Given the description of an element on the screen output the (x, y) to click on. 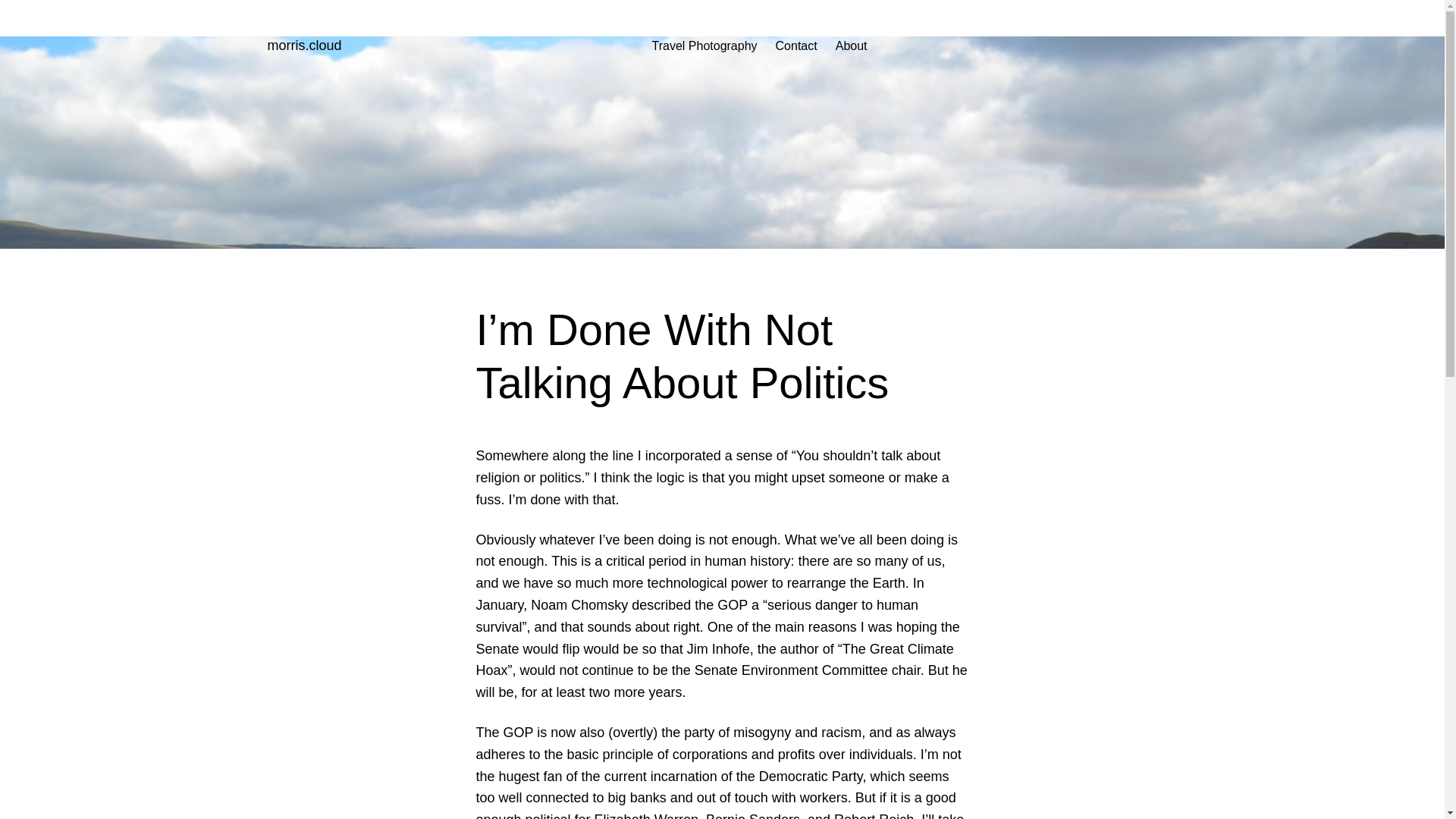
morris.cloud (303, 45)
Travel Photography (704, 46)
About (851, 46)
Contact (796, 46)
